Given the description of an element on the screen output the (x, y) to click on. 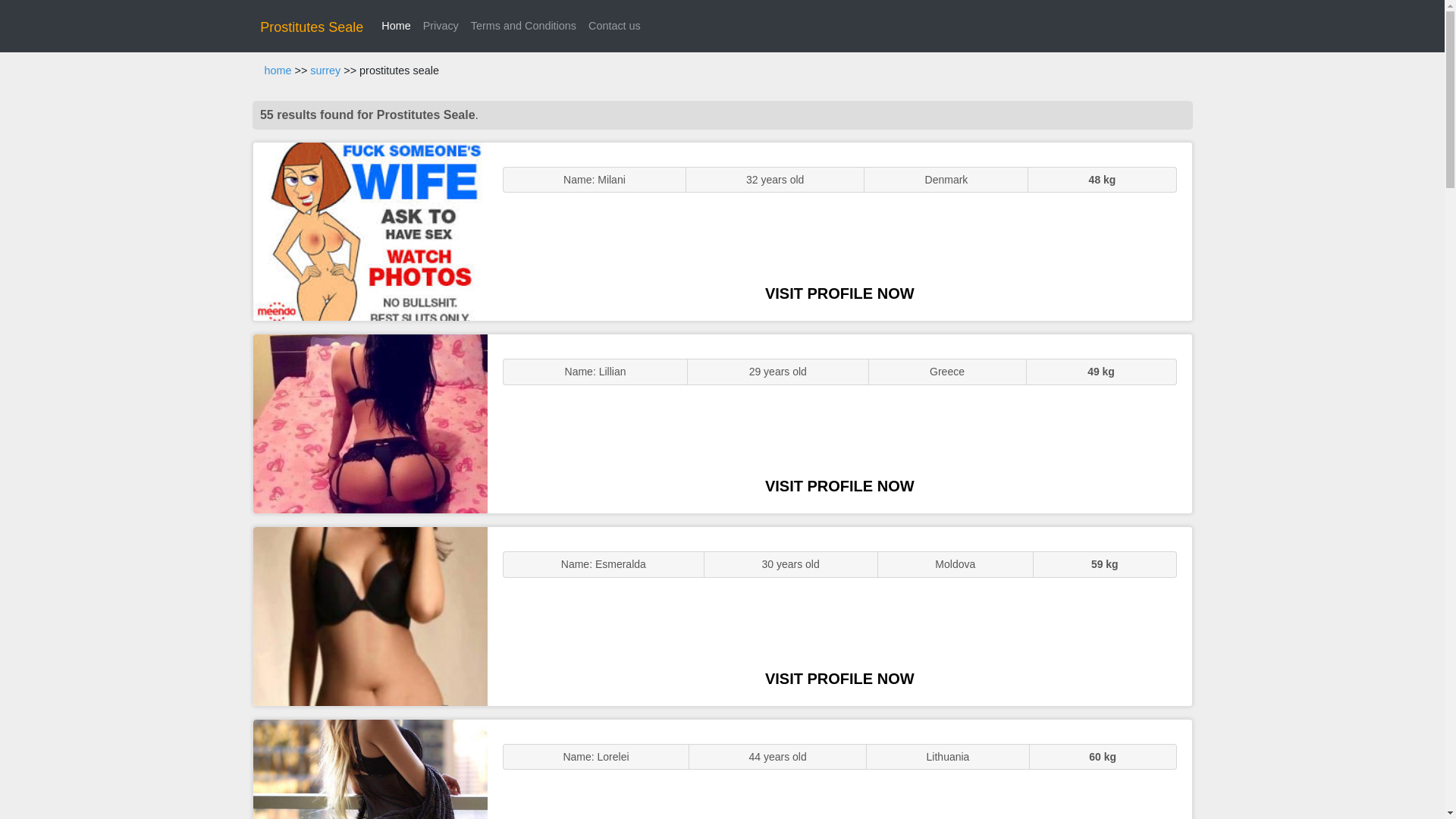
 ENGLISH STUNNER (370, 231)
VISIT PROFILE NOW (839, 293)
Sluts (370, 769)
Sexy (370, 616)
GFE (370, 423)
VISIT PROFILE NOW (839, 485)
Terms and Conditions (523, 25)
surrey (325, 70)
VISIT PROFILE NOW (839, 678)
Prostitutes Seale (311, 27)
